Given the description of an element on the screen output the (x, y) to click on. 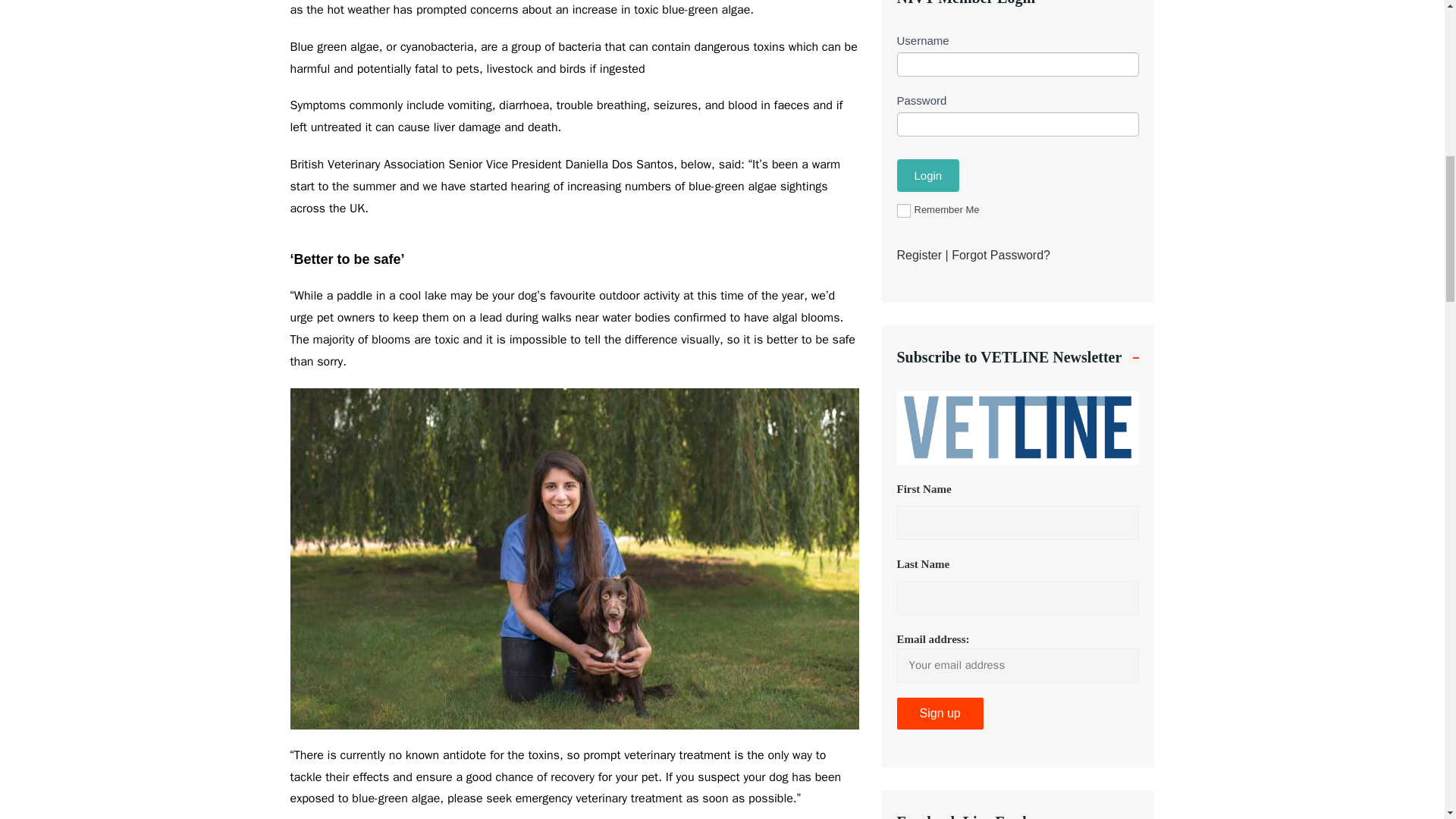
Login (927, 174)
Sign up (939, 713)
forever (903, 210)
